Given the description of an element on the screen output the (x, y) to click on. 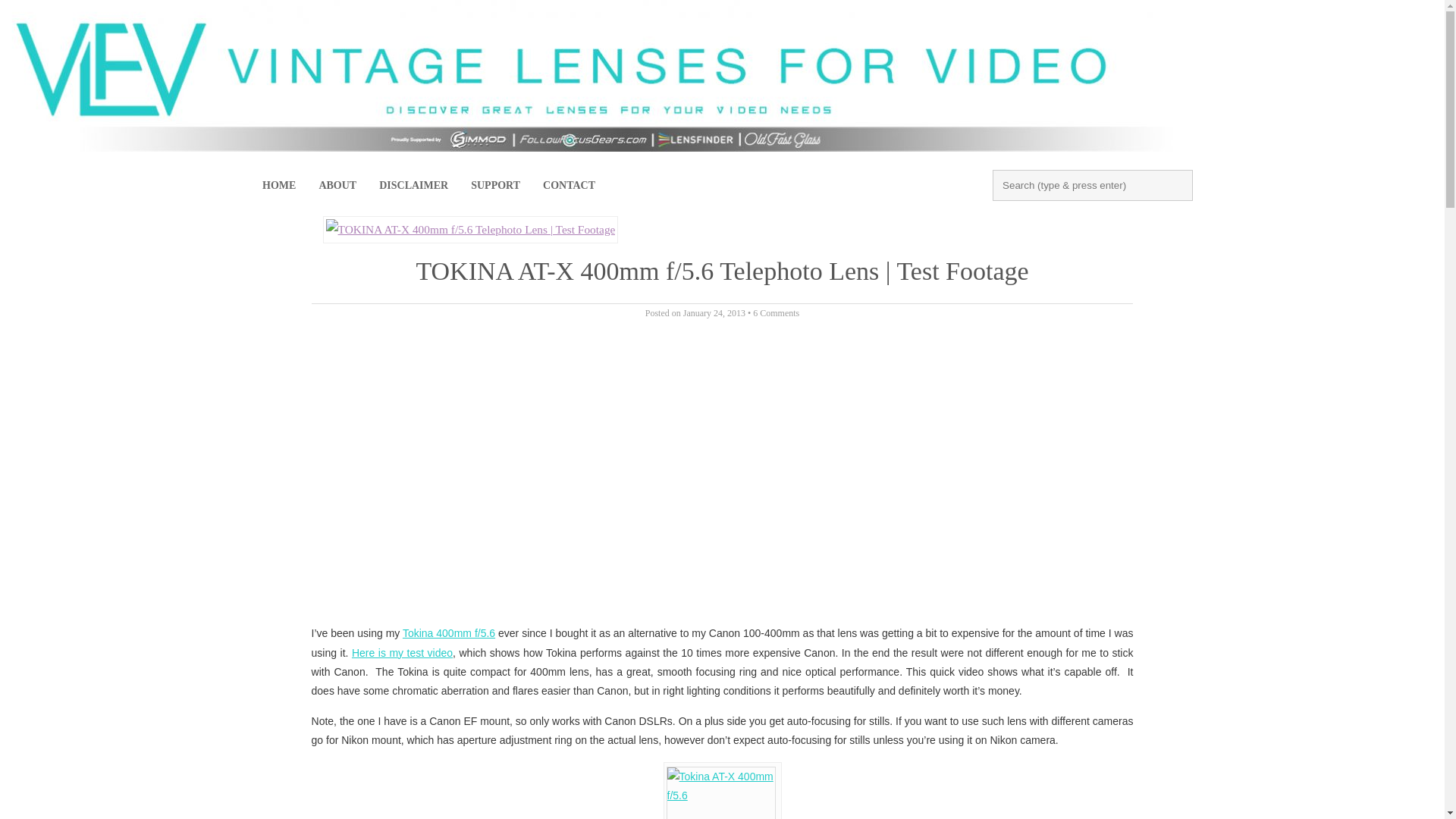
Search (34, 20)
CONTACT (569, 185)
400mm Test Comparison (402, 653)
6 Comments (775, 312)
Here is my test video (402, 653)
ABOUT (337, 185)
SUPPORT (495, 185)
DISCLAIMER (414, 185)
HOME (278, 185)
